Given the description of an element on the screen output the (x, y) to click on. 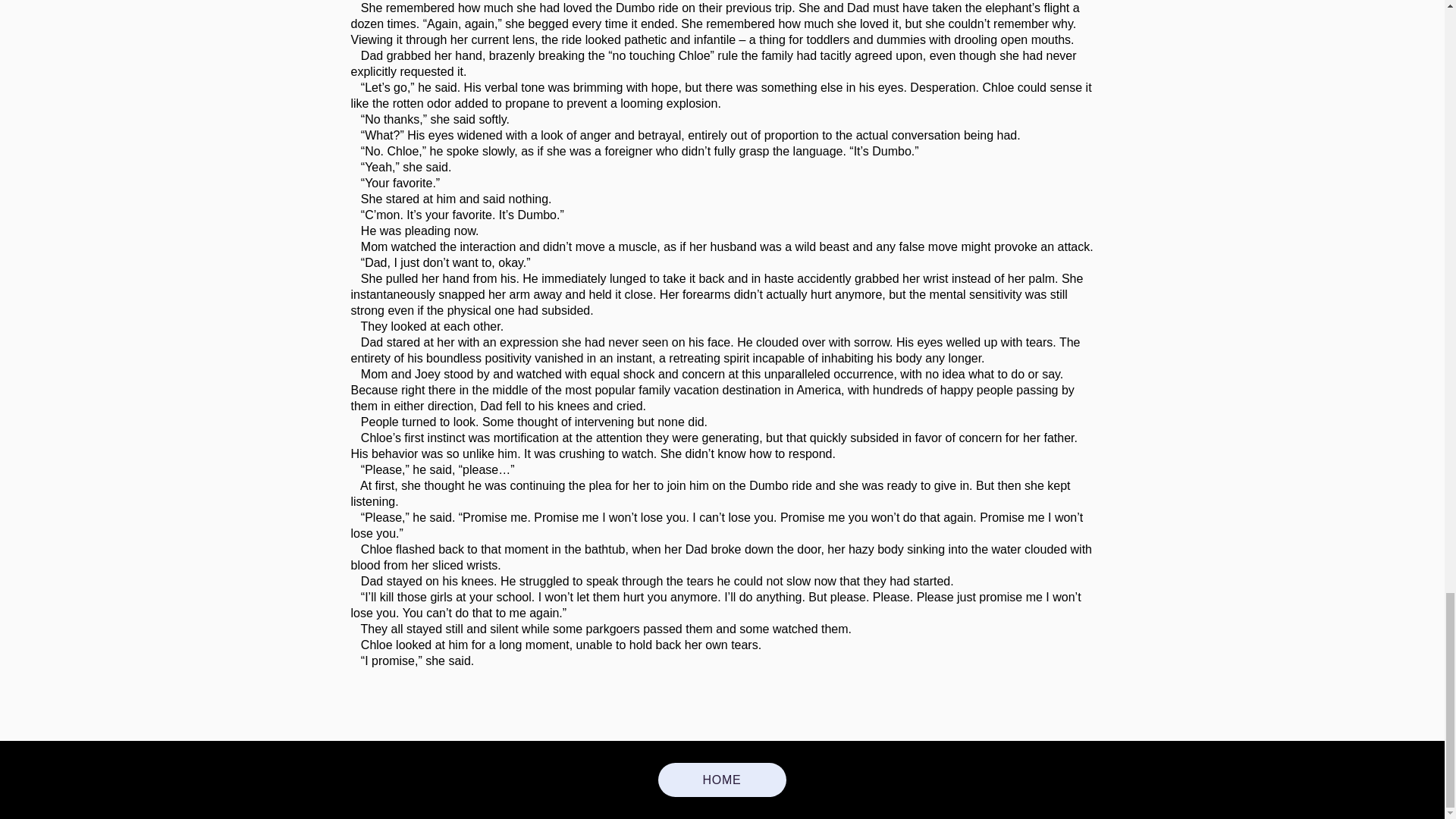
HOME (722, 779)
